Given the description of an element on the screen output the (x, y) to click on. 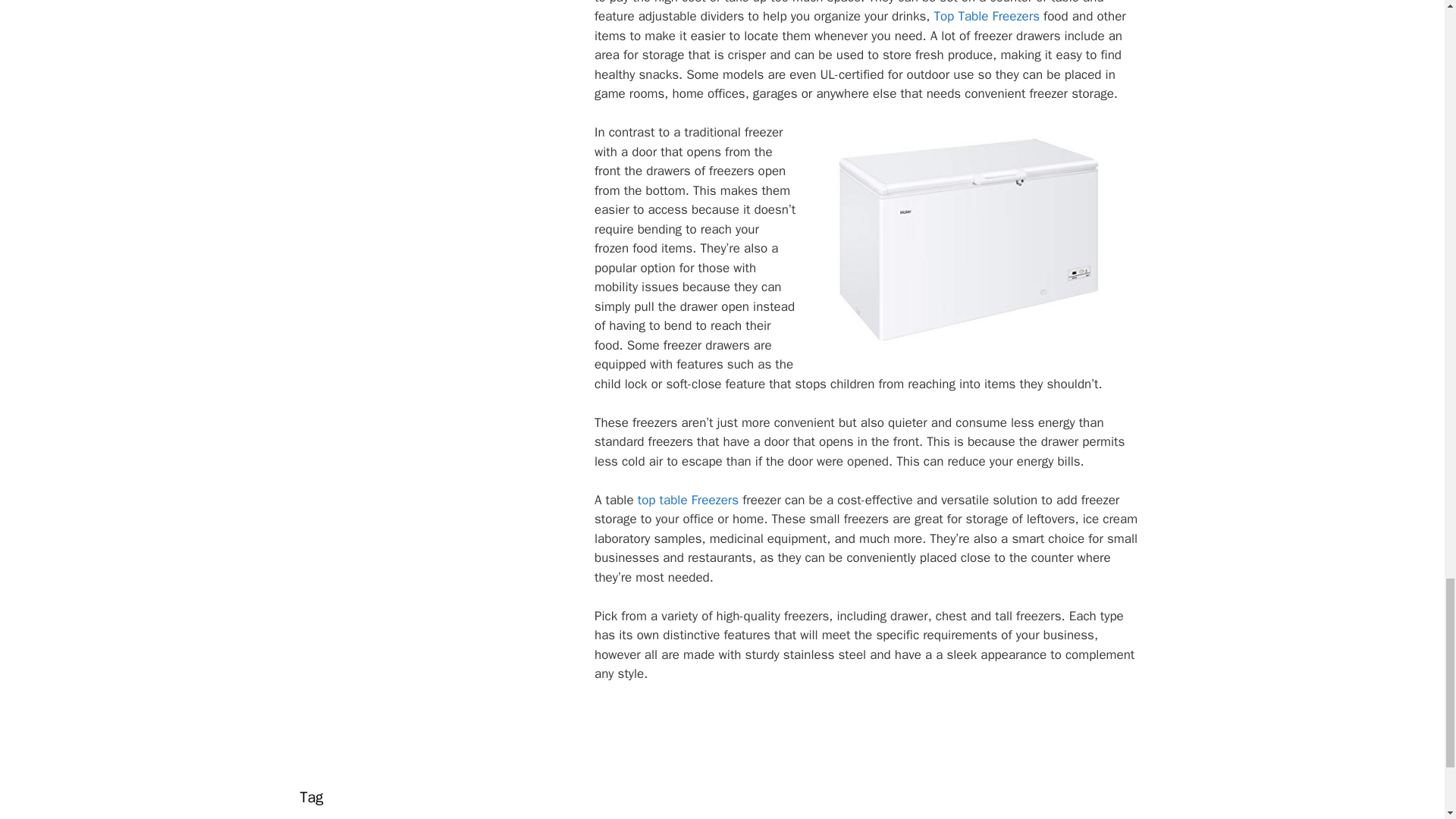
top table Freezers (687, 499)
Top Table Freezers (986, 16)
